Given the description of an element on the screen output the (x, y) to click on. 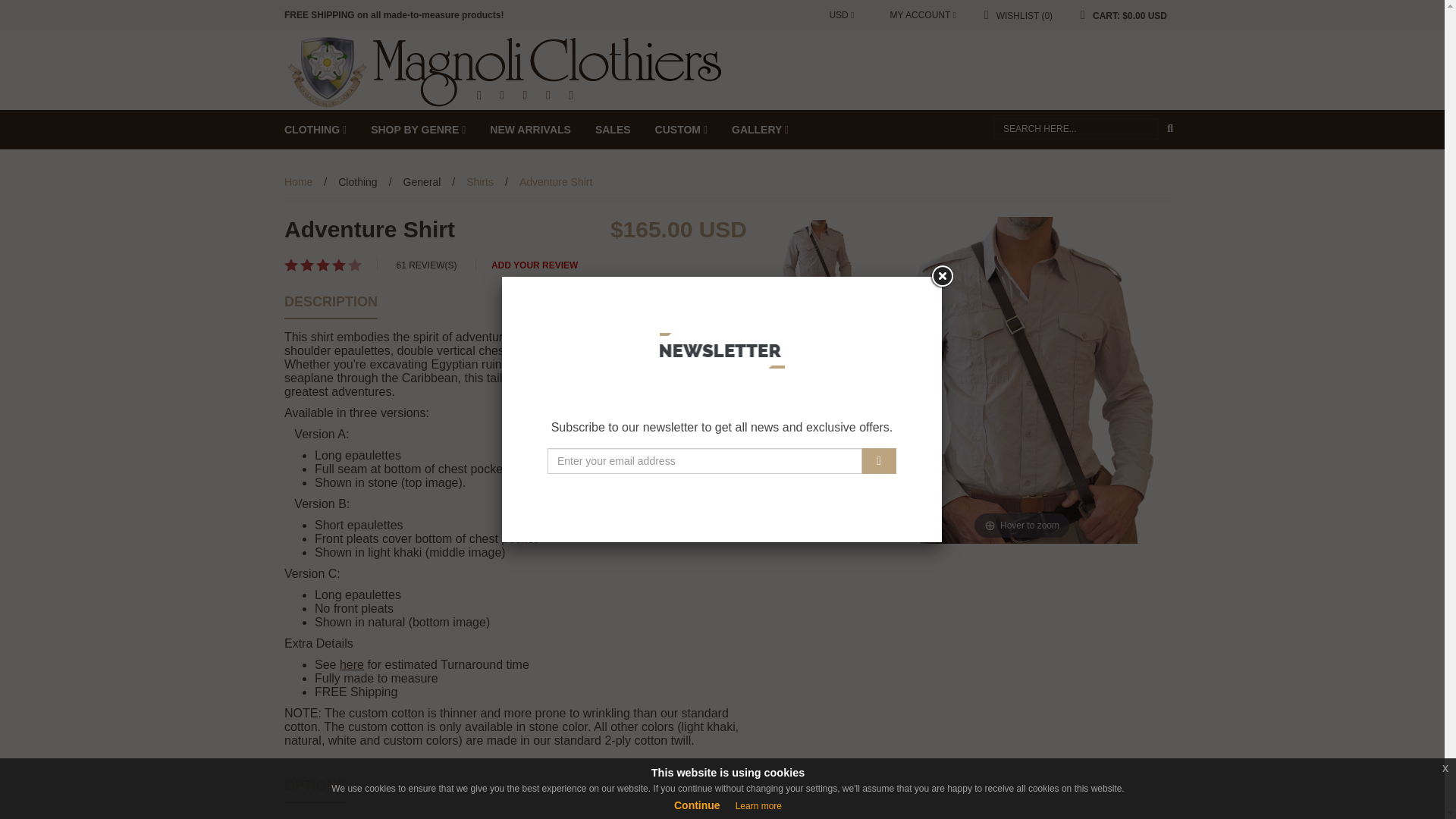
   MY ACCOUNT (918, 15)
USD (841, 15)
CLOTHING (314, 129)
 Adventure Shirt by Magnoli Clothiers  (504, 71)
 Adventure Shirt  (1022, 380)
